Given the description of an element on the screen output the (x, y) to click on. 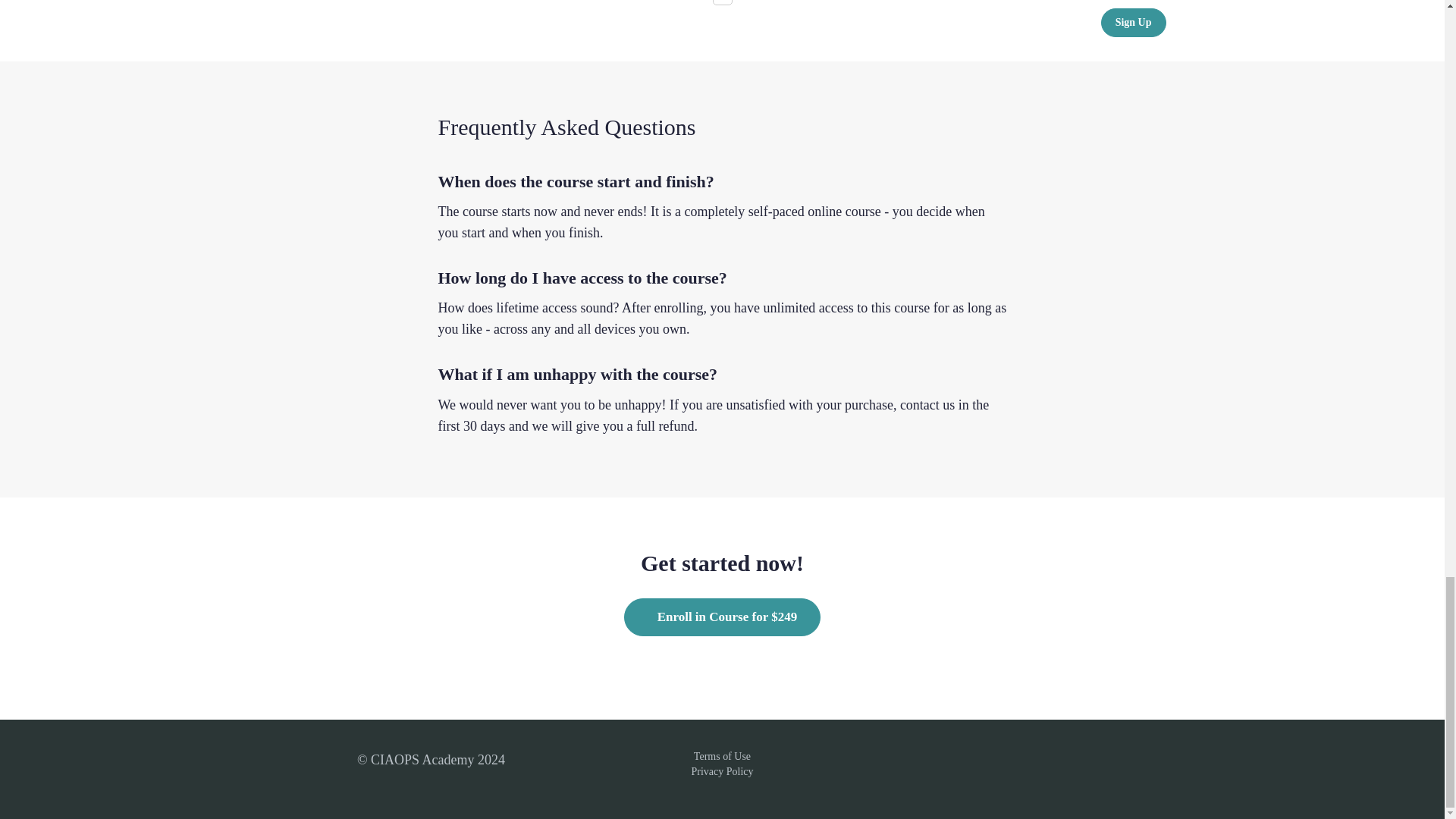
Privacy Policy (721, 771)
Terms of Use (722, 756)
